Given the description of an element on the screen output the (x, y) to click on. 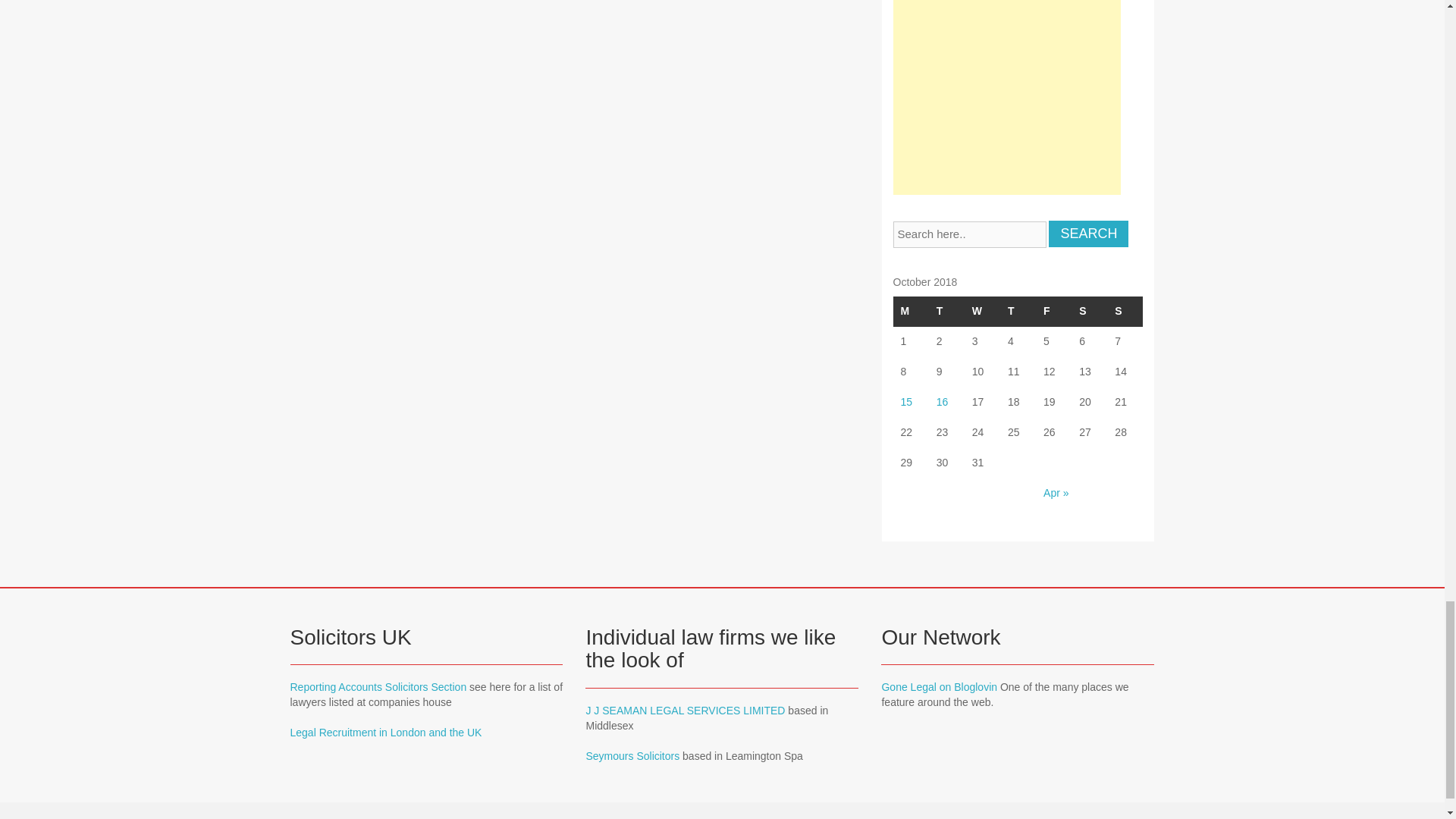
Search (1088, 233)
Monday (910, 311)
Friday (1053, 311)
Wednesday (981, 311)
Thursday (1017, 311)
Sunday (1124, 311)
Search for: (969, 234)
Saturday (1088, 311)
Tuesday (945, 311)
